Given the description of an element on the screen output the (x, y) to click on. 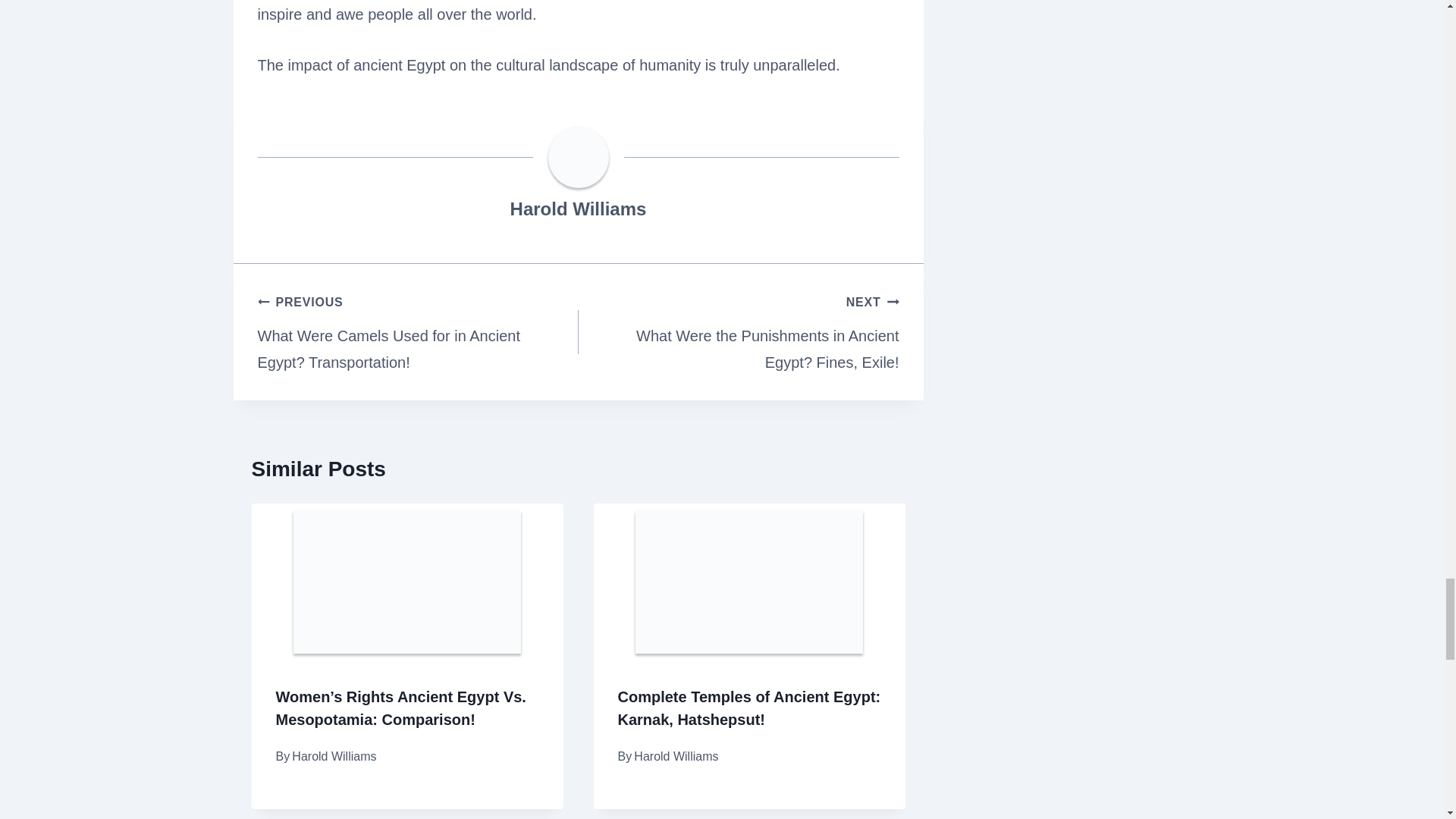
Harold Williams (578, 209)
Complete Temples of Ancient Egypt: Karnak, Hatshepsut! (748, 708)
Posts by Harold Williams (578, 209)
